Given the description of an element on the screen output the (x, y) to click on. 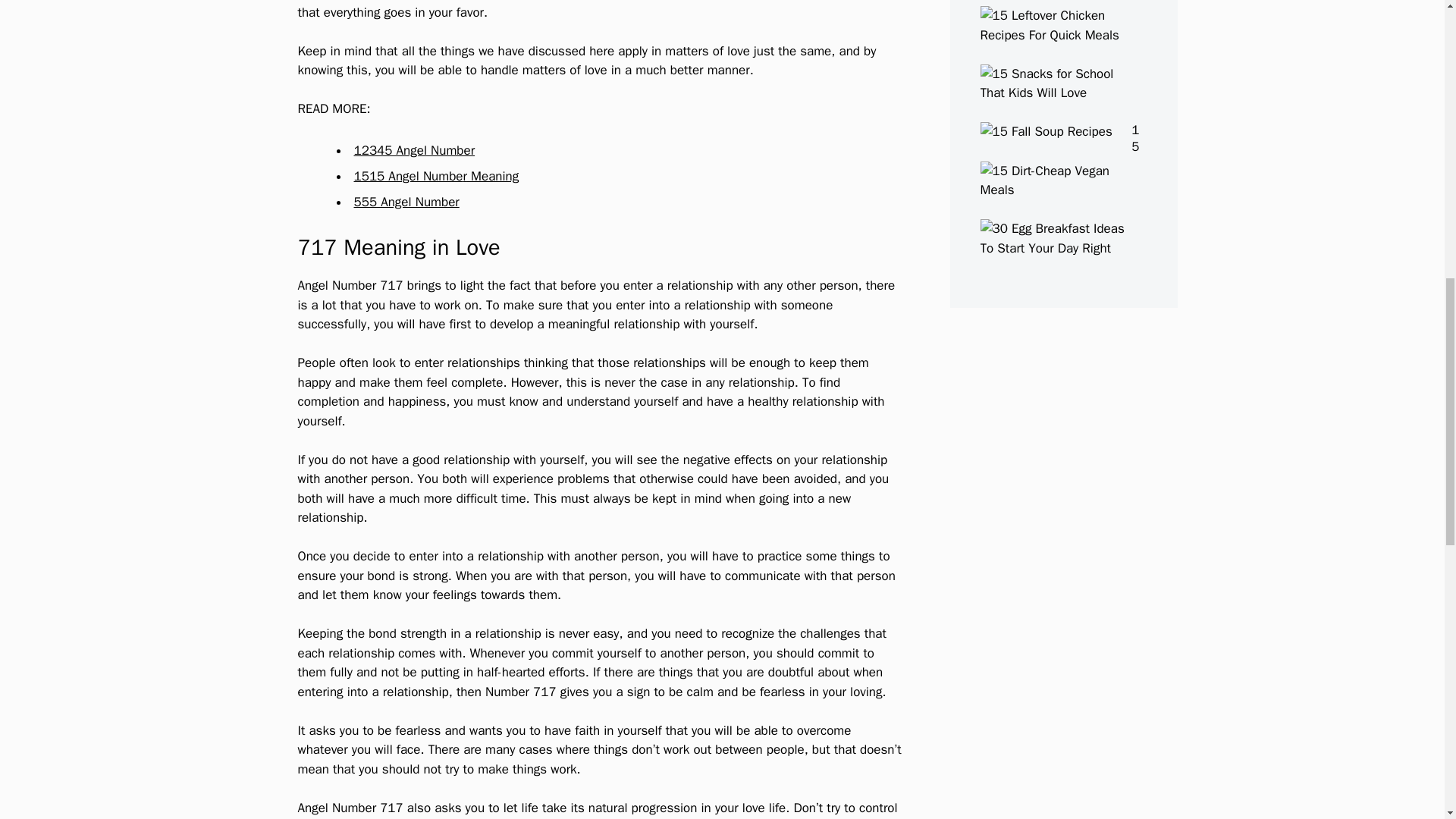
30 Egg Breakfast Ideas To Start Your Day Right (1052, 248)
555 Angel Number (405, 201)
1515 Angel Numbe (408, 176)
15 Leftover Chicken Recipes For Quick Meals (1052, 35)
Meaning (492, 176)
15 Fall Soup Recipes (1045, 131)
15 Dirt-Cheap Vegan Meals (1052, 189)
15 Snacks for School That Kids Will Love (1052, 92)
12345 Angel Number (413, 150)
